Given the description of an element on the screen output the (x, y) to click on. 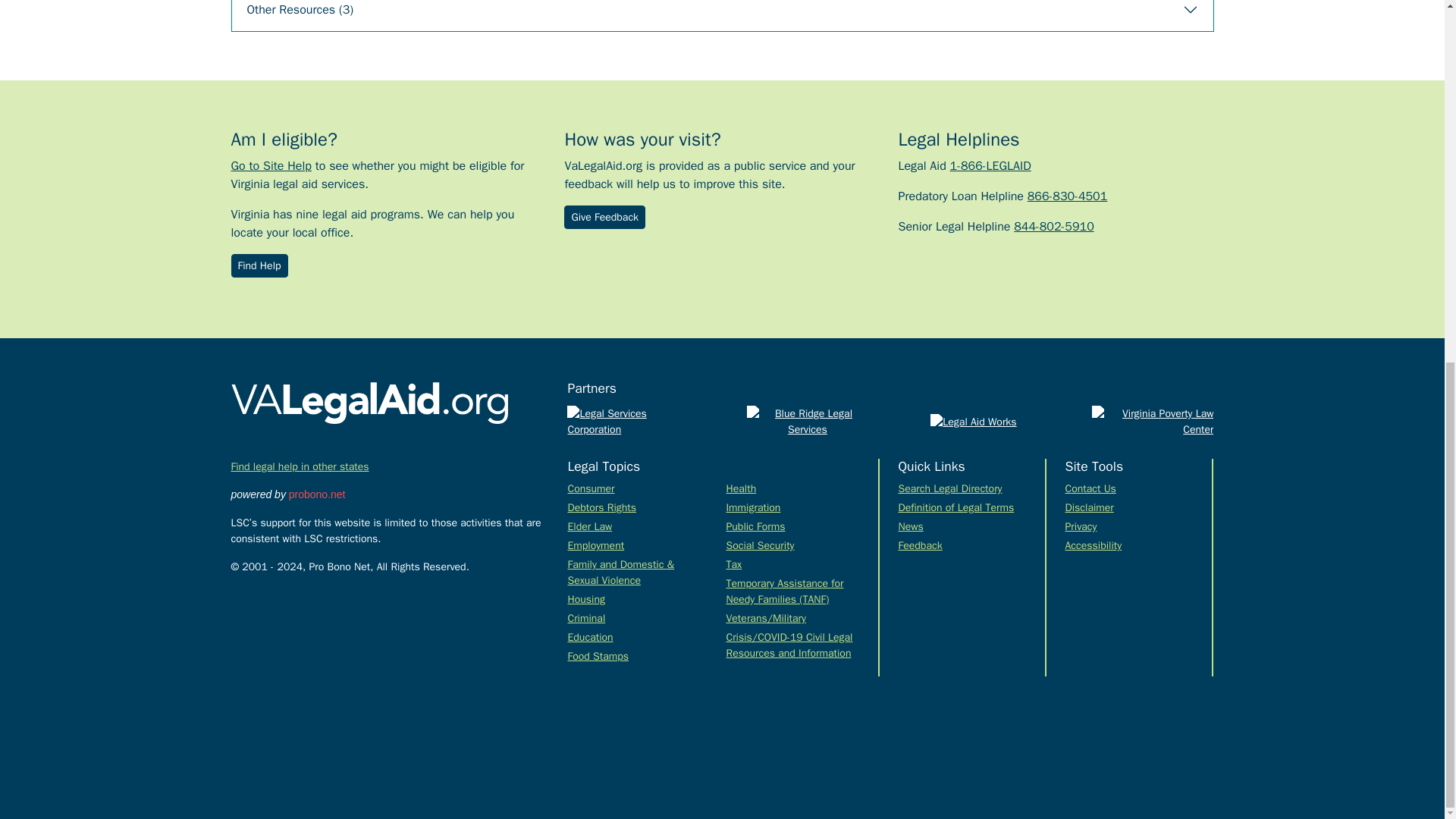
Legal Services Corporation (627, 420)
VALegalAid.org (369, 403)
